Given the description of an element on the screen output the (x, y) to click on. 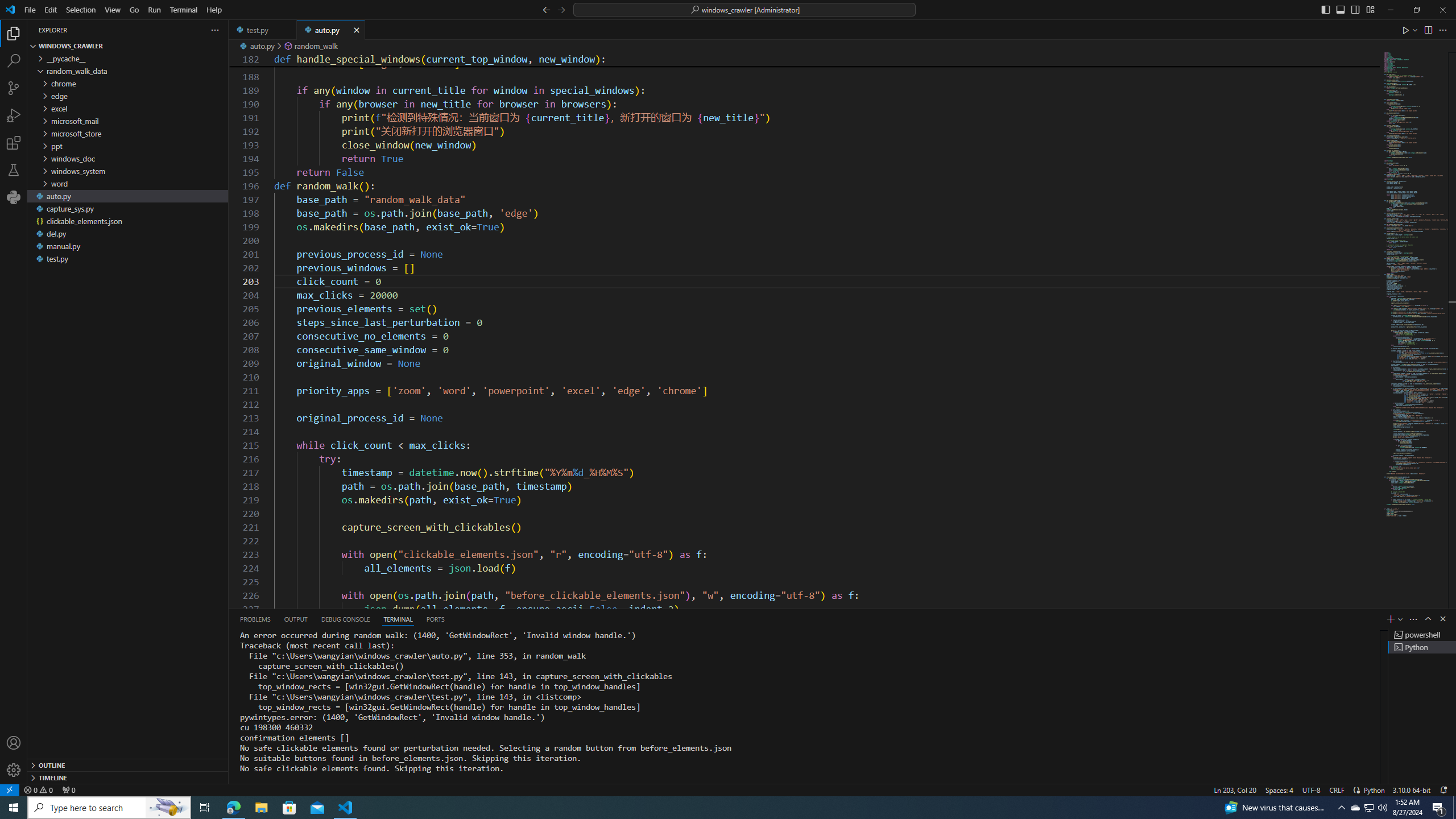
Output (Ctrl+Shift+U) (295, 618)
Toggle Panel (Ctrl+J) (1339, 9)
Toggle Secondary Side Bar (Ctrl+Alt+B) (1355, 9)
Ln 203, Col 20 (1235, 789)
auto.py (331, 29)
Source Control (Ctrl+Shift+G) (13, 87)
Testing (13, 169)
Outline Section (127, 764)
Terminal actions (938, 618)
